Given the description of an element on the screen output the (x, y) to click on. 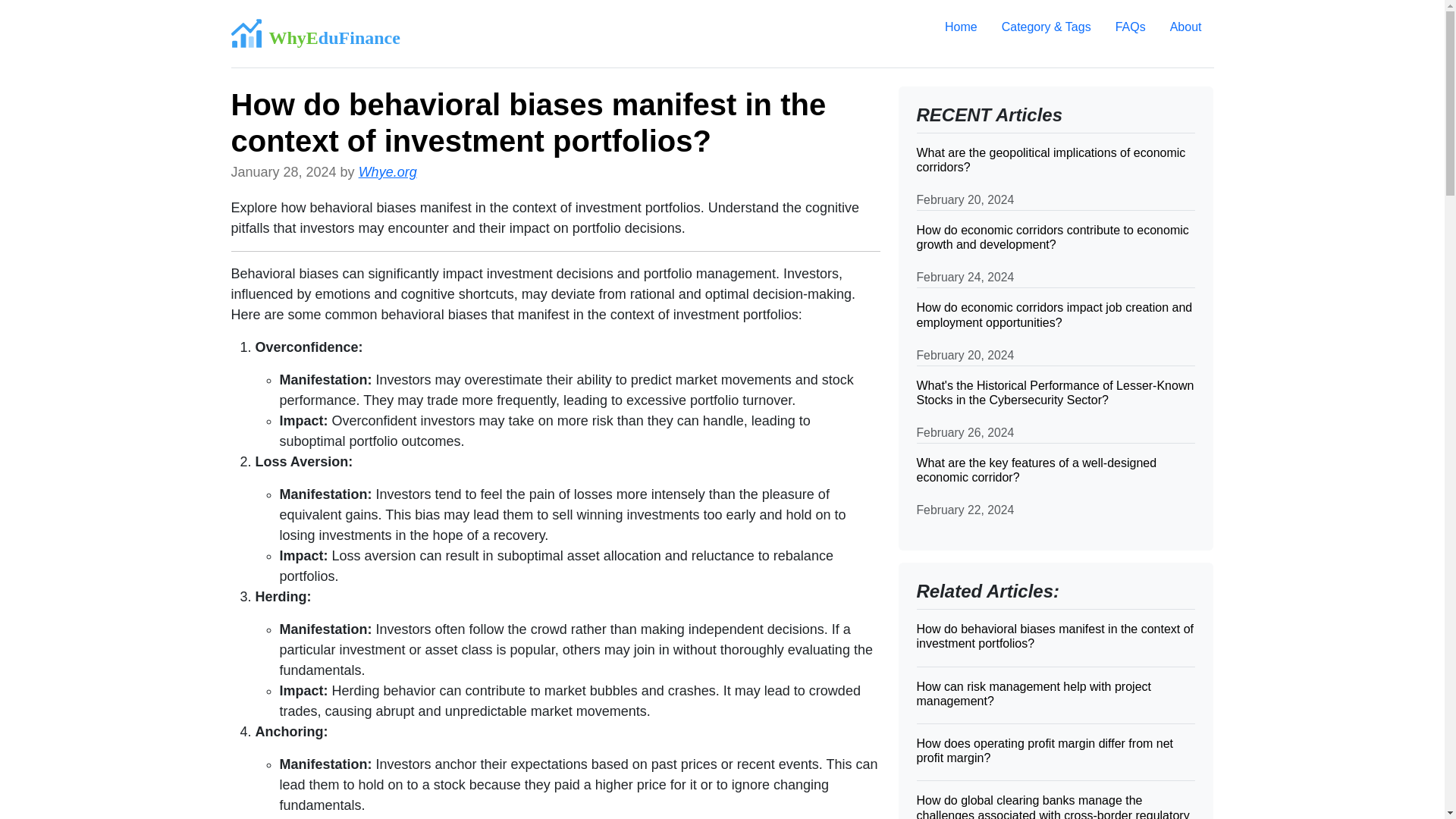
Whye.org (387, 171)
How can risk management help with project management? (1055, 693)
WhyEduFinance (314, 33)
